Given the description of an element on the screen output the (x, y) to click on. 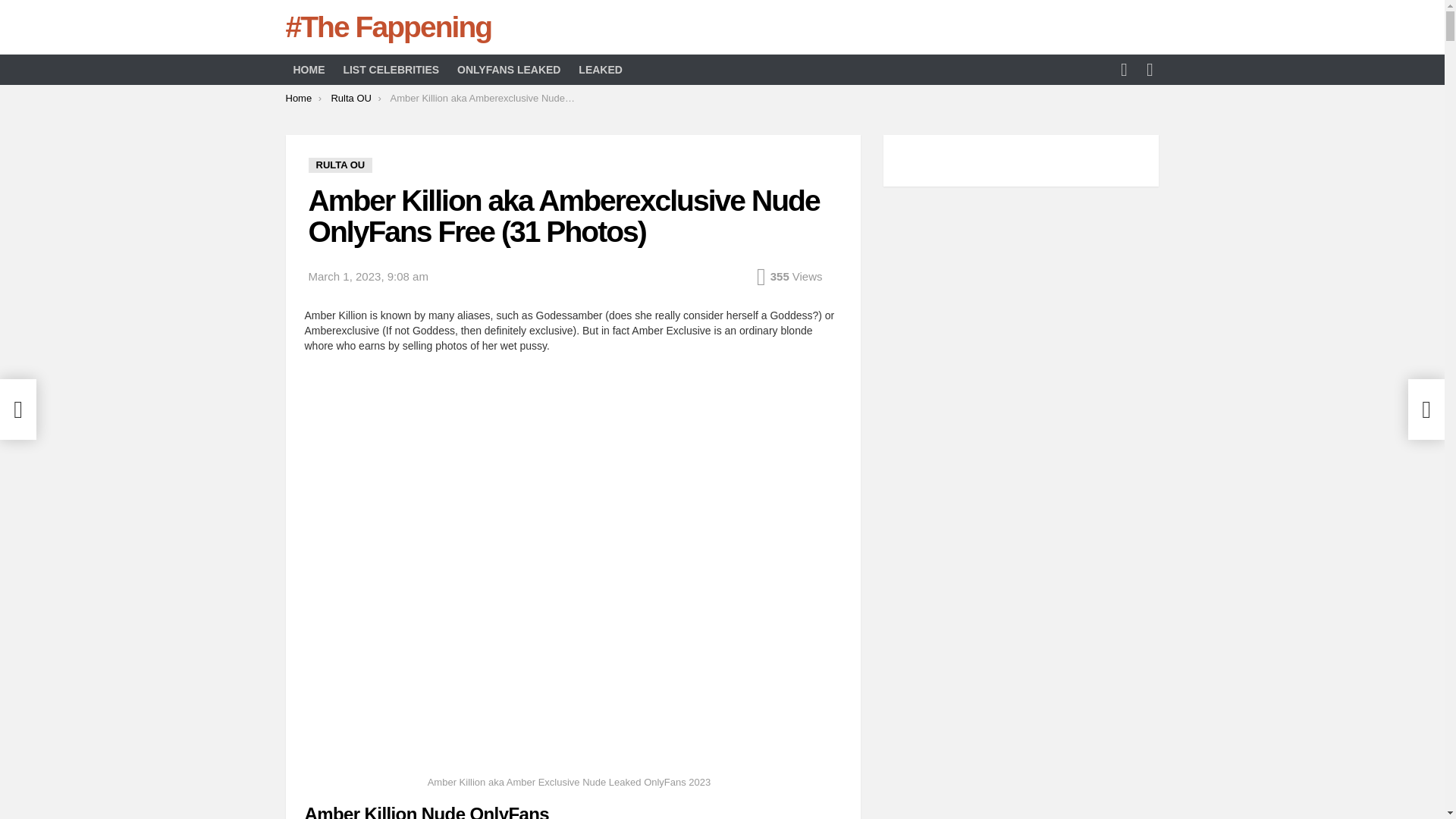
ONLYFANS LEAKED (508, 69)
Rulta OU (350, 98)
HOME (308, 69)
RULTA OU (339, 165)
LEAKED (600, 69)
Home (298, 98)
LIST CELEBRITIES (390, 69)
